Given the description of an element on the screen output the (x, y) to click on. 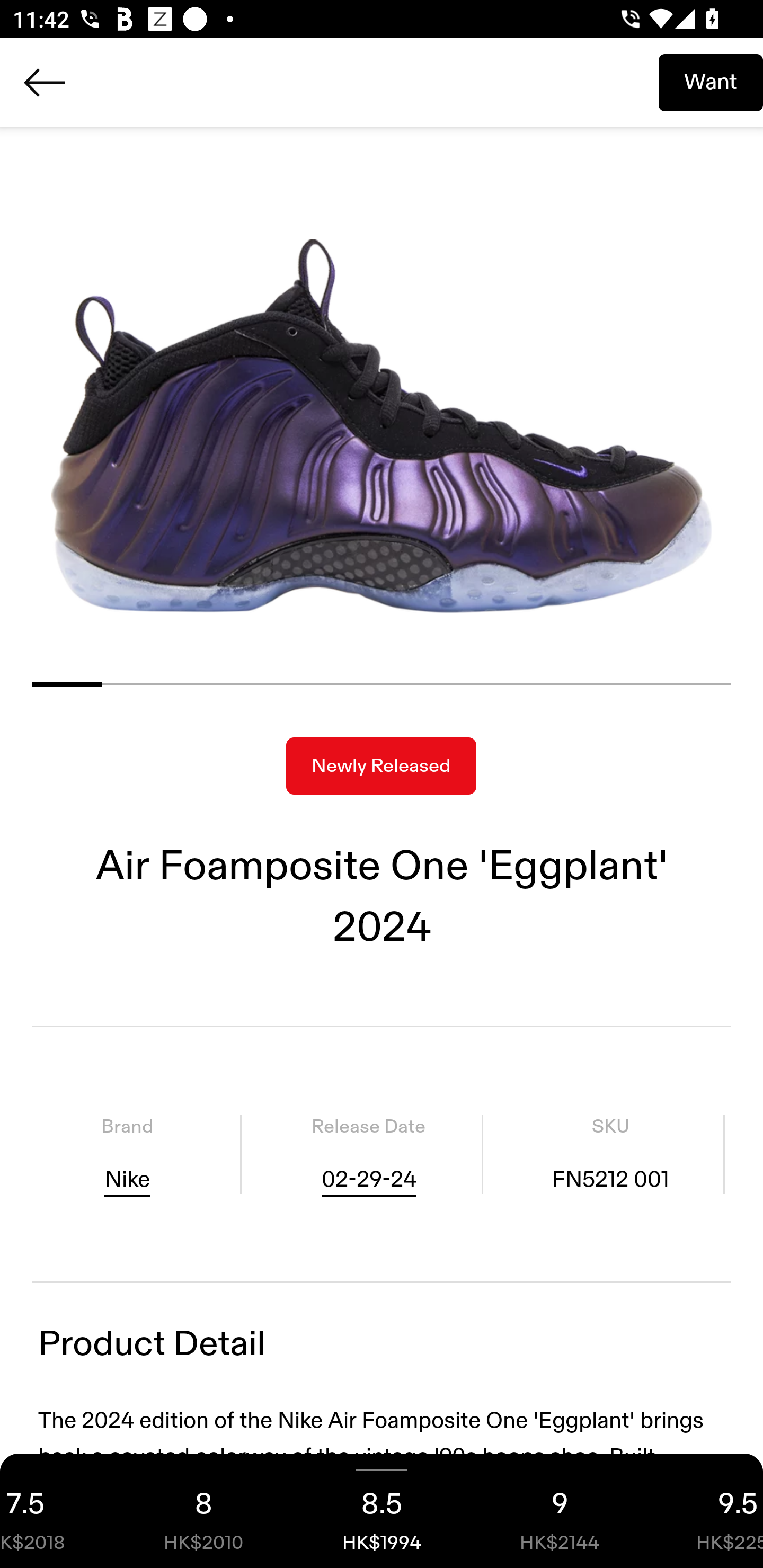
Want (710, 82)
Newly Released (381, 765)
Brand Nike (126, 1153)
Release Date 02-29-24 (368, 1153)
SKU FN5212 001 (609, 1153)
7.5 HK$2018 (57, 1510)
8 HK$2010 (203, 1510)
8.5 HK$1994 (381, 1510)
9 HK$2144 (559, 1510)
9.5 HK$2255 (705, 1510)
